Given the description of an element on the screen output the (x, y) to click on. 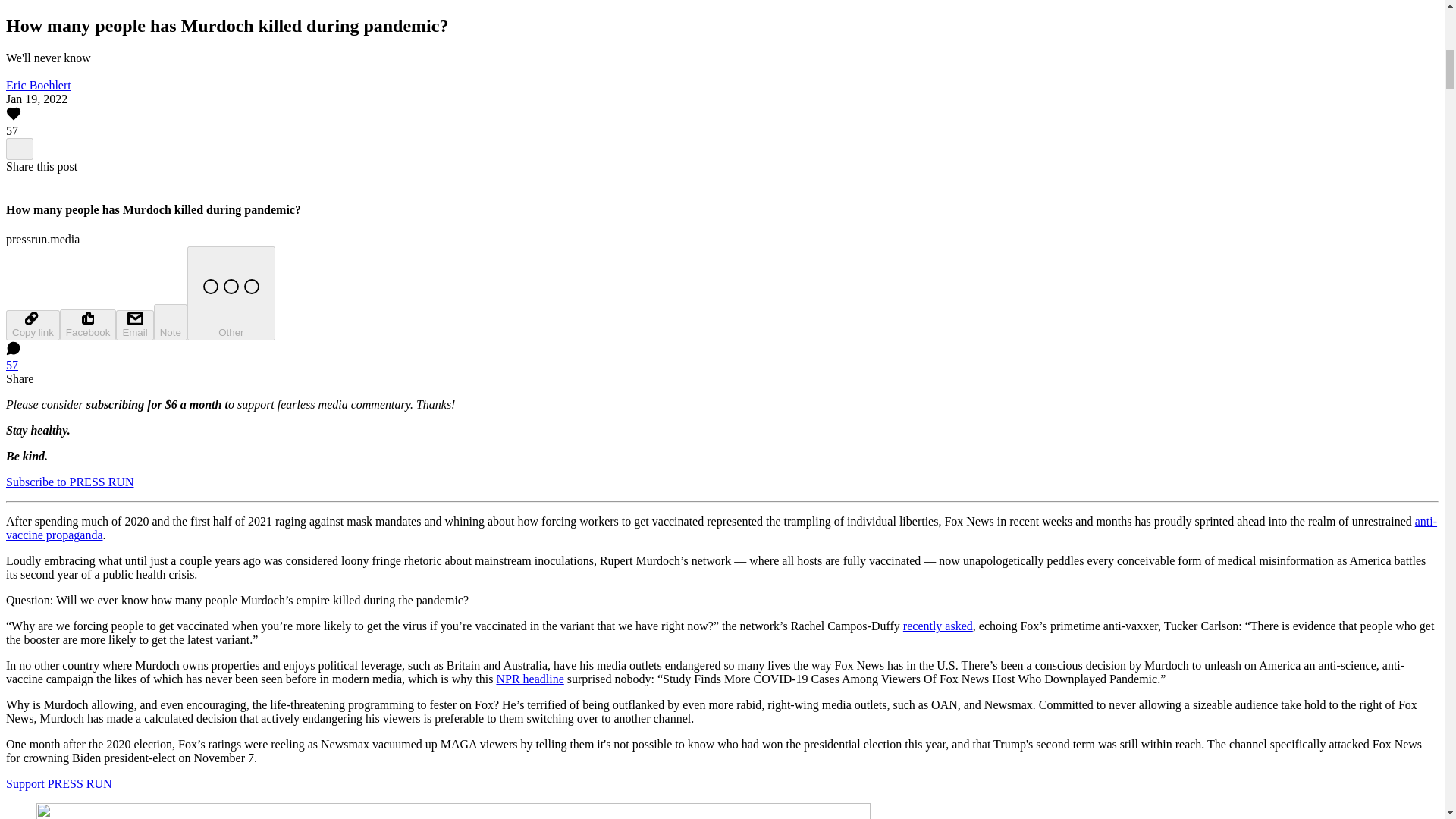
Note (170, 321)
Other (231, 293)
Email (134, 325)
Copy link (32, 325)
Subscribe to PRESS RUN (69, 481)
Support PRESS RUN (58, 783)
Facebook (87, 324)
Eric Boehlert (38, 84)
anti-vaccine propaganda (721, 528)
recently asked (937, 625)
